Given the description of an element on the screen output the (x, y) to click on. 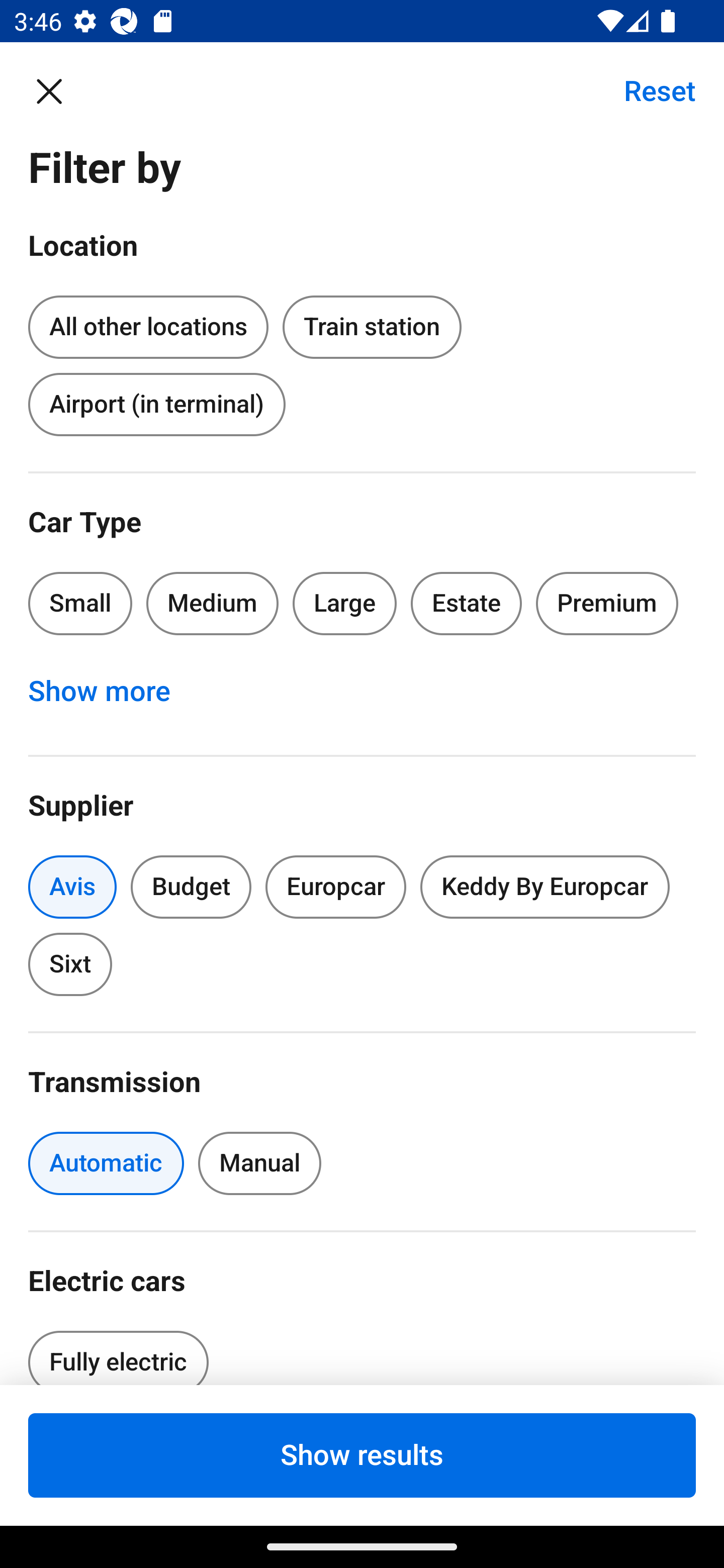
Close (59, 90)
Reset (649, 90)
All other locations (148, 323)
Train station (371, 327)
Airport (in terminal) (156, 404)
Small (80, 603)
Medium (212, 603)
Large (344, 603)
Estate (466, 603)
Premium (606, 603)
Show more (109, 691)
Budget (191, 887)
Europcar (335, 887)
Keddy By Europcar (544, 887)
Sixt (70, 963)
Manual (259, 1163)
Fully electric (118, 1352)
Show results (361, 1454)
